Given the description of an element on the screen output the (x, y) to click on. 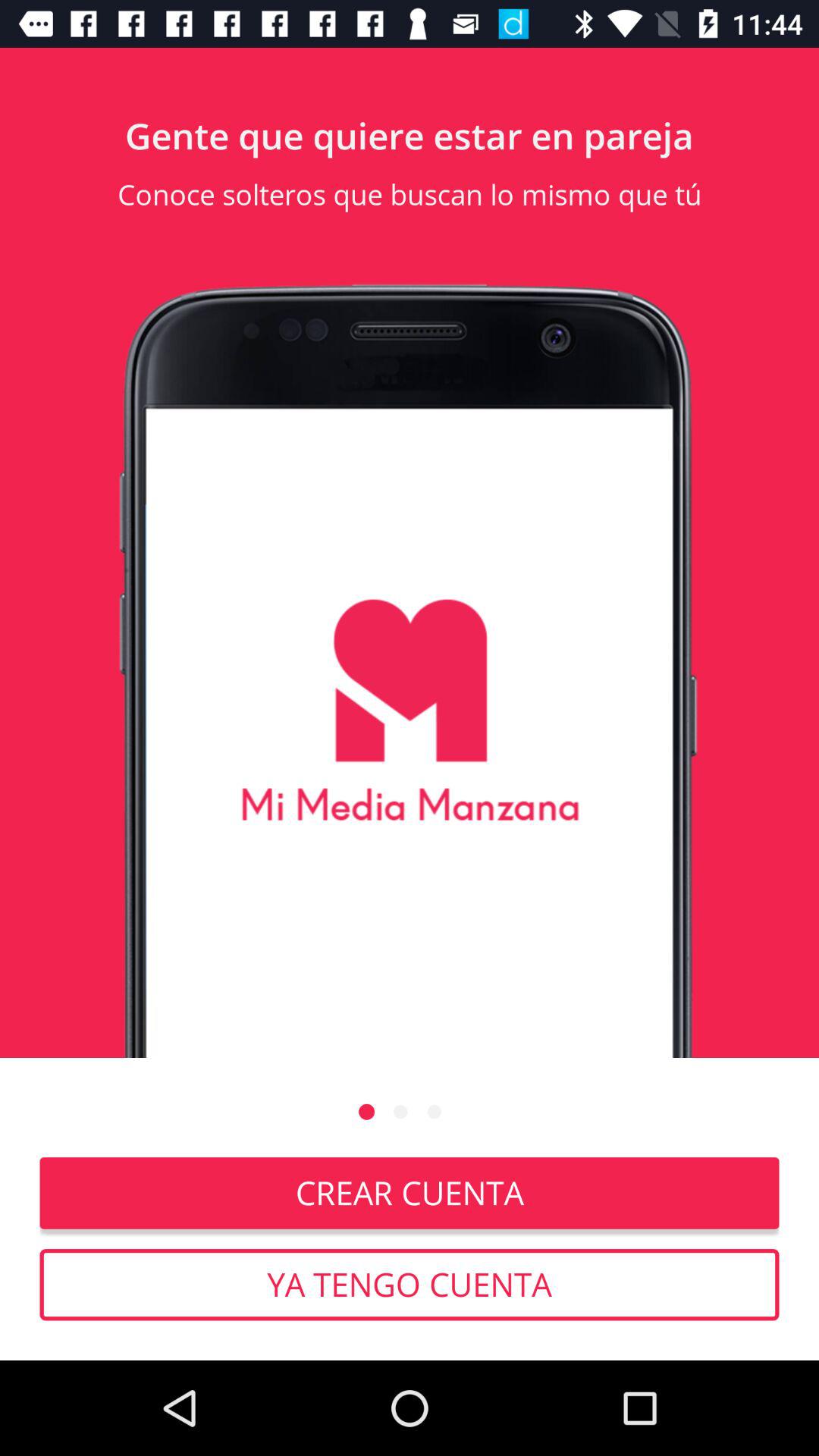
jump to crear cuenta item (409, 1193)
